Given the description of an element on the screen output the (x, y) to click on. 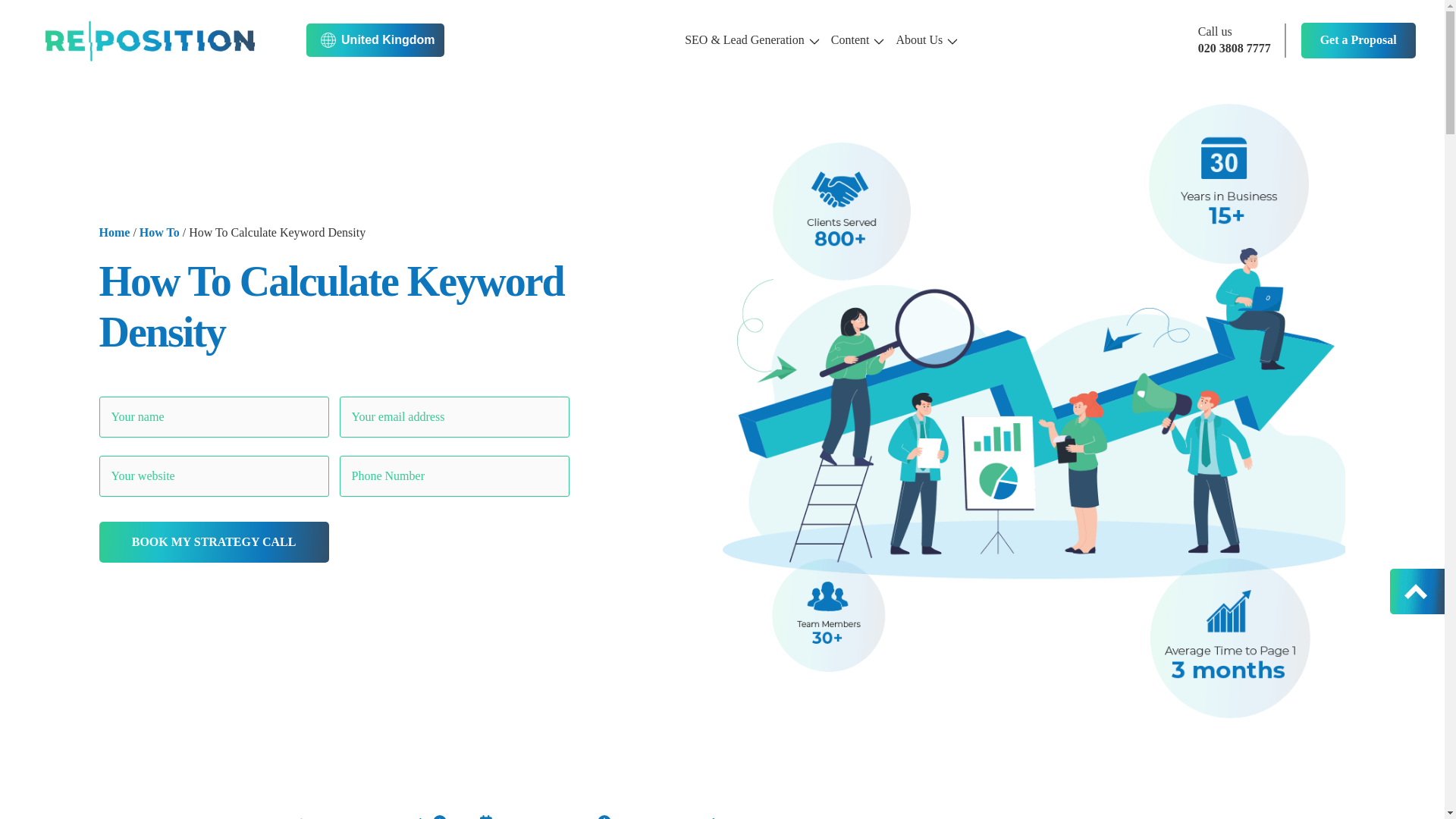
United Kingdom (374, 39)
Content (857, 39)
Book My Strategy Call (214, 541)
